Given the description of an element on the screen output the (x, y) to click on. 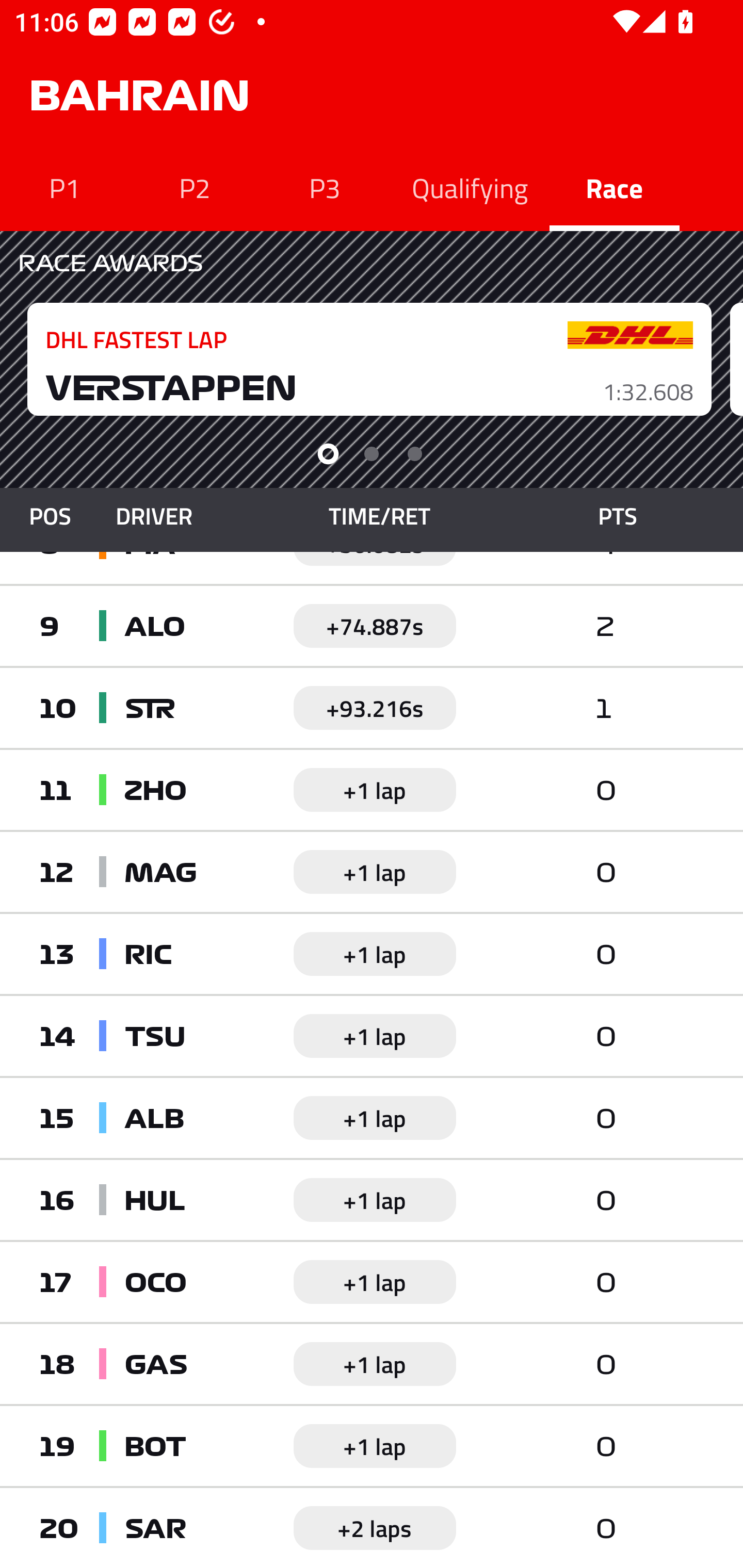
P1 (65, 187)
P2 (195, 187)
P3 (325, 187)
Qualifying (469, 187)
